Given the description of an element on the screen output the (x, y) to click on. 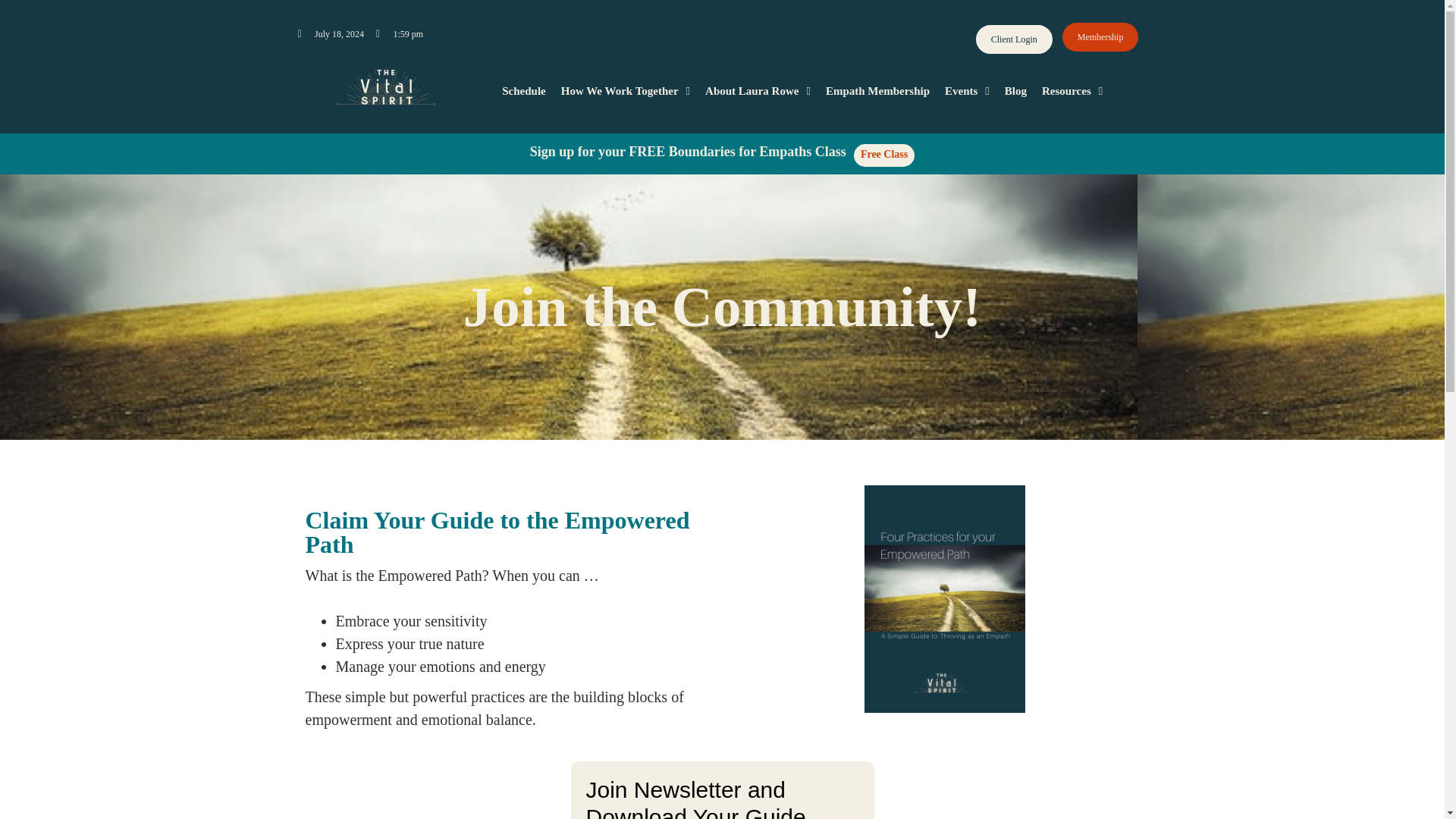
Membership (1100, 36)
Schedule (524, 90)
Client Login (1014, 39)
Blog (1015, 90)
Resources (1071, 90)
How We Work Together (625, 90)
About Laura Rowe (757, 90)
Events (967, 90)
Empath Membership (877, 90)
